Given the description of an element on the screen output the (x, y) to click on. 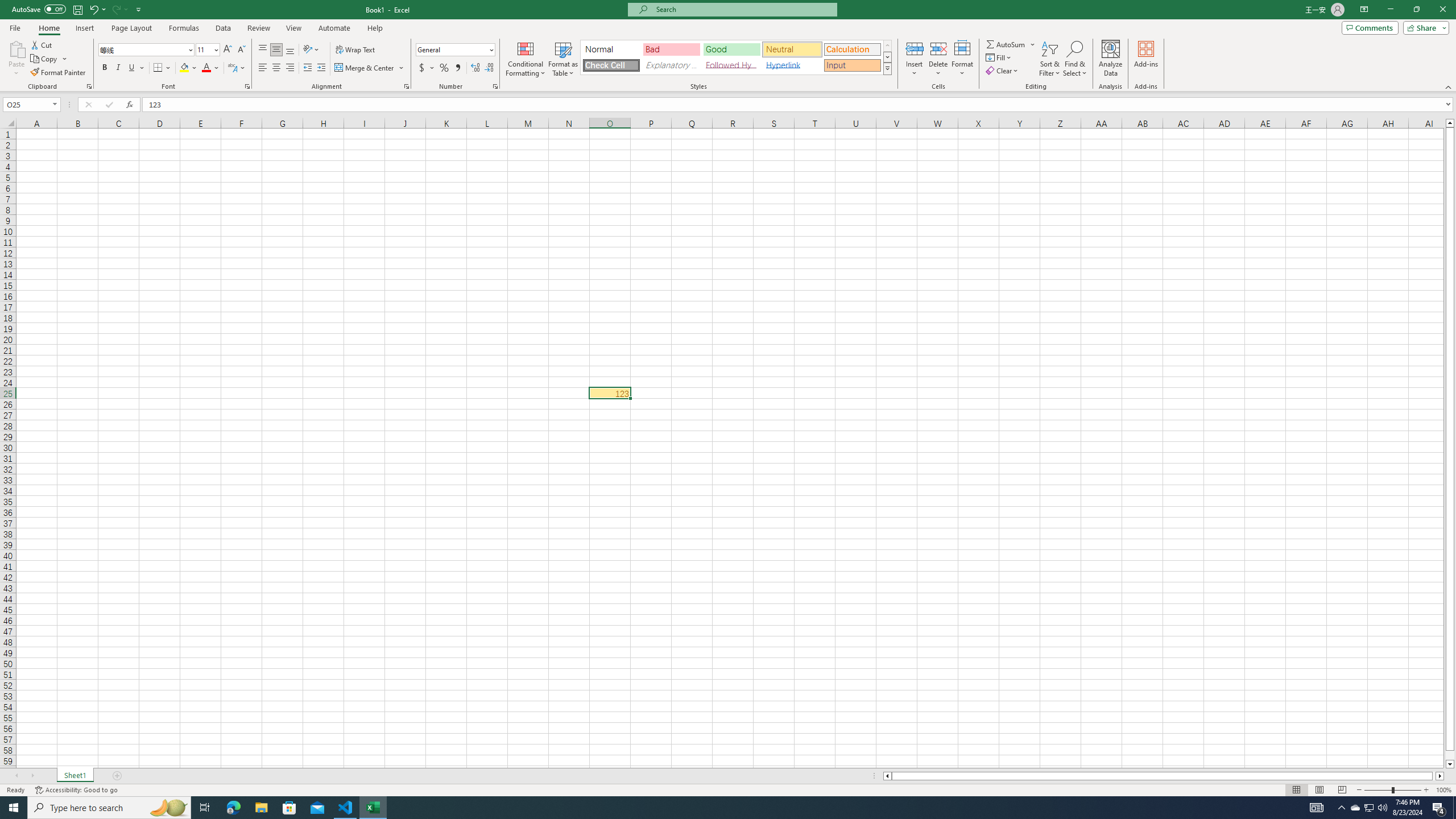
Cut (42, 44)
More Options (1033, 44)
Undo (92, 9)
Wrap Text (355, 49)
Font (147, 49)
Paste (16, 48)
Microsoft search (742, 9)
Show Phonetic Field (236, 67)
AutoSum (1011, 44)
Borders (162, 67)
Help (374, 28)
Bottom Align (290, 49)
Row Down (887, 56)
System (6, 6)
Format Cell Alignment (405, 85)
